Given the description of an element on the screen output the (x, y) to click on. 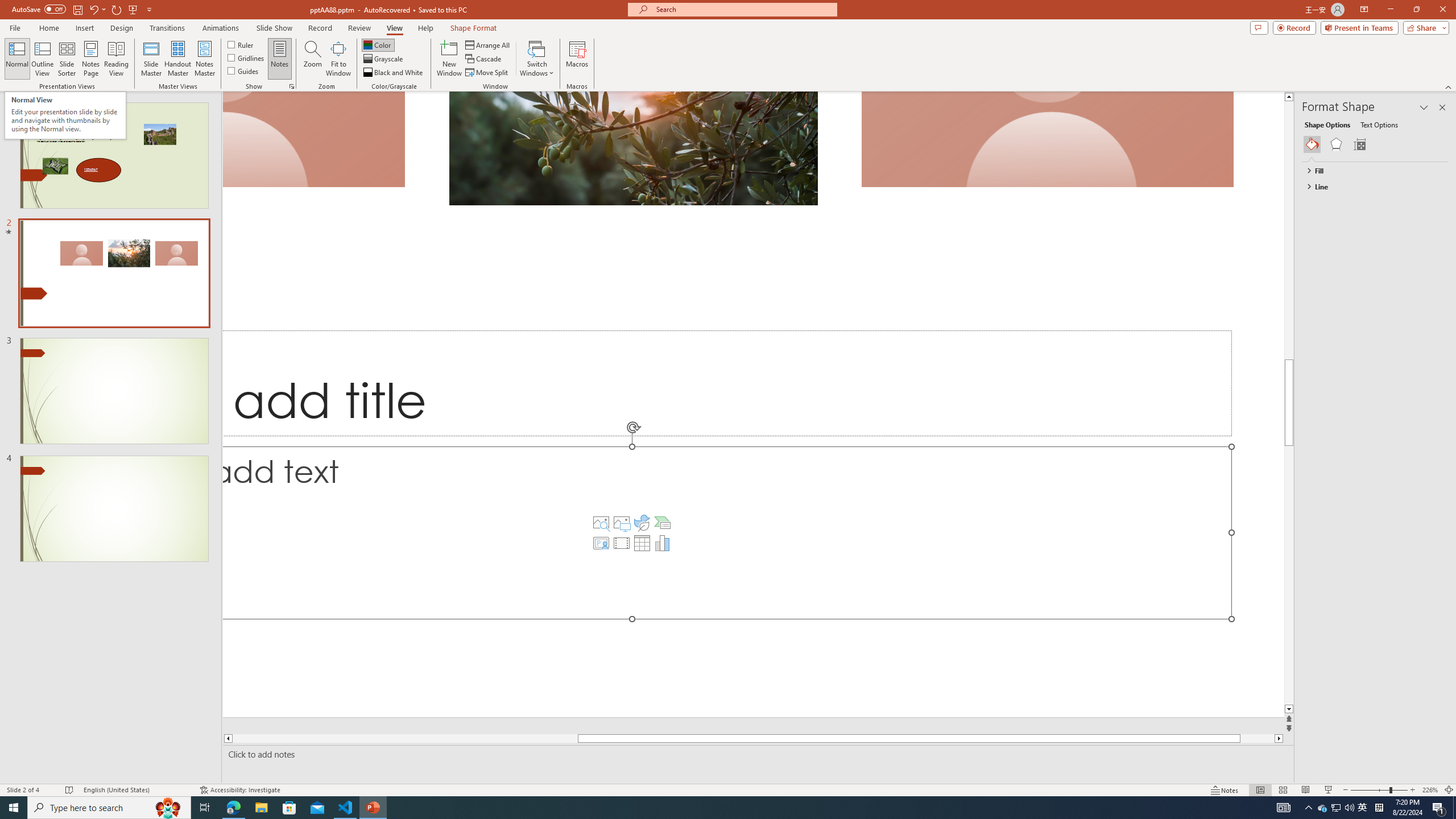
Guides (243, 69)
Effects (1335, 144)
Handout Master (177, 58)
Text Options (1379, 124)
